Given the description of an element on the screen output the (x, y) to click on. 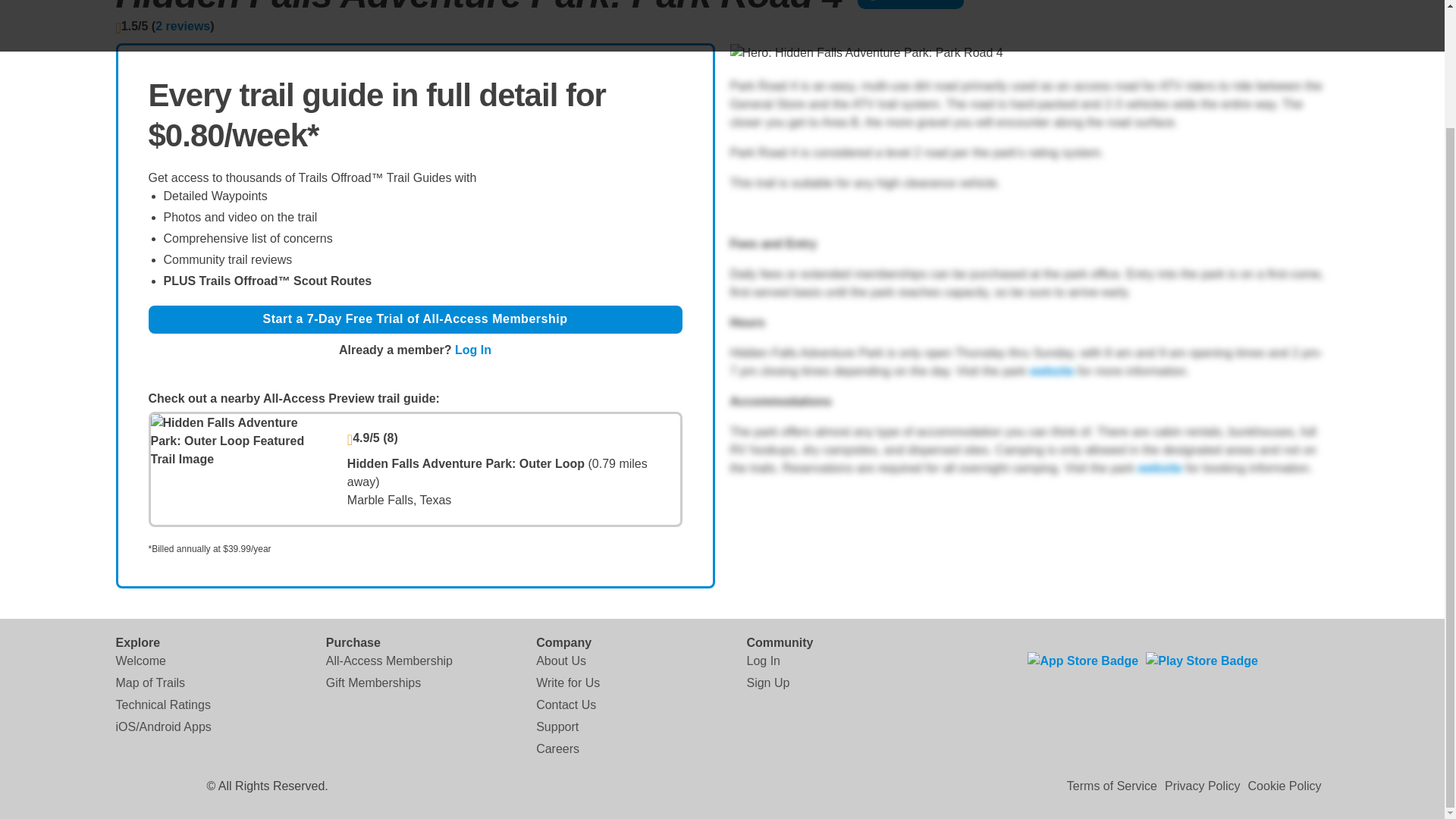
All-Access Membership (389, 660)
Welcome (140, 660)
Write for Us (567, 683)
About Us (560, 660)
Gift Memberships (373, 683)
Contact Us (565, 704)
2 reviews (182, 25)
Technical Ratings (162, 704)
Log In (761, 660)
Map of Trails (149, 683)
